Given the description of an element on the screen output the (x, y) to click on. 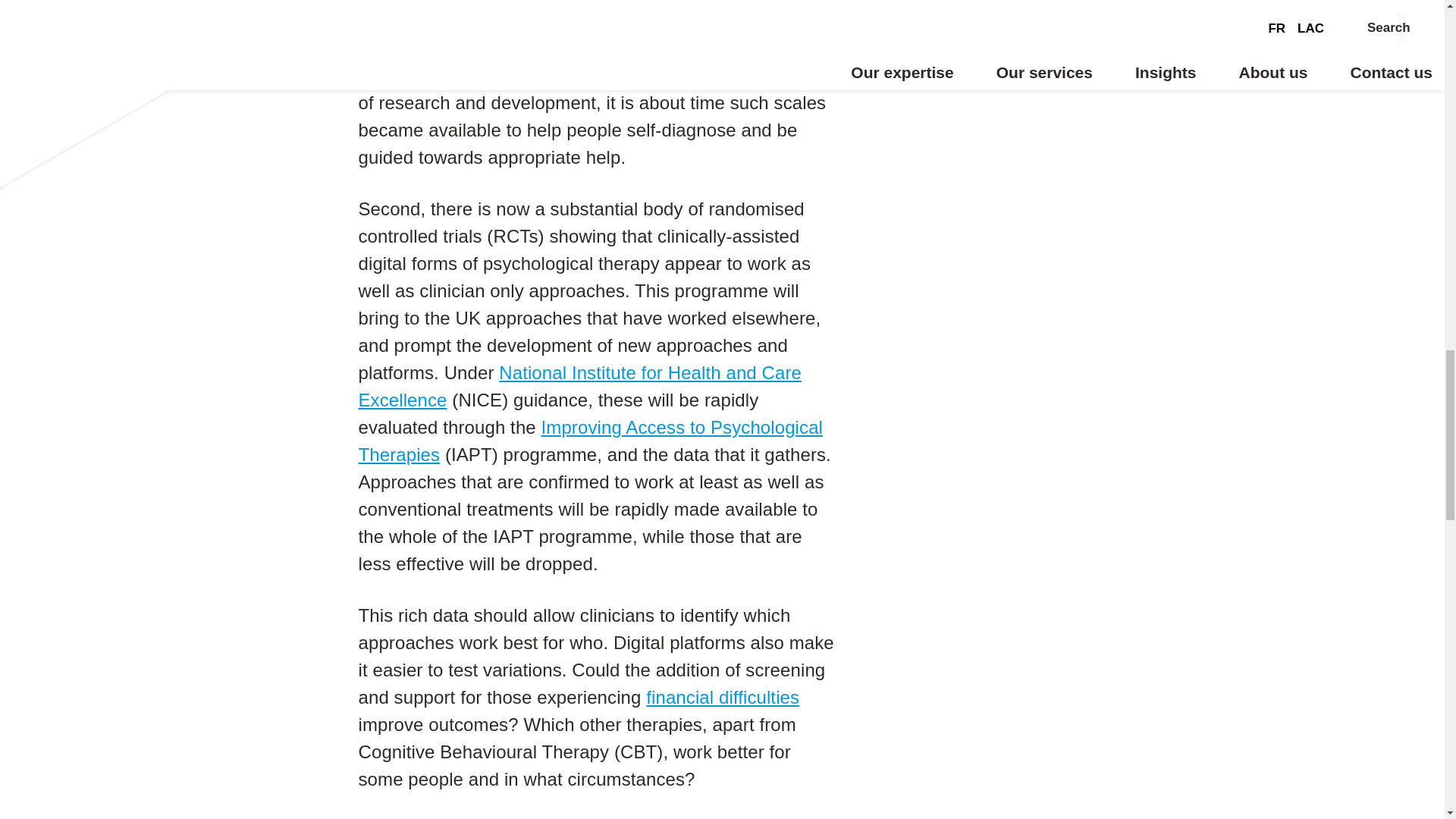
National Institute for Health and Care Excellence (579, 386)
financial difficulties (722, 697)
Improving Access to Psychological Therapies (590, 440)
NHS choices (521, 75)
